Given the description of an element on the screen output the (x, y) to click on. 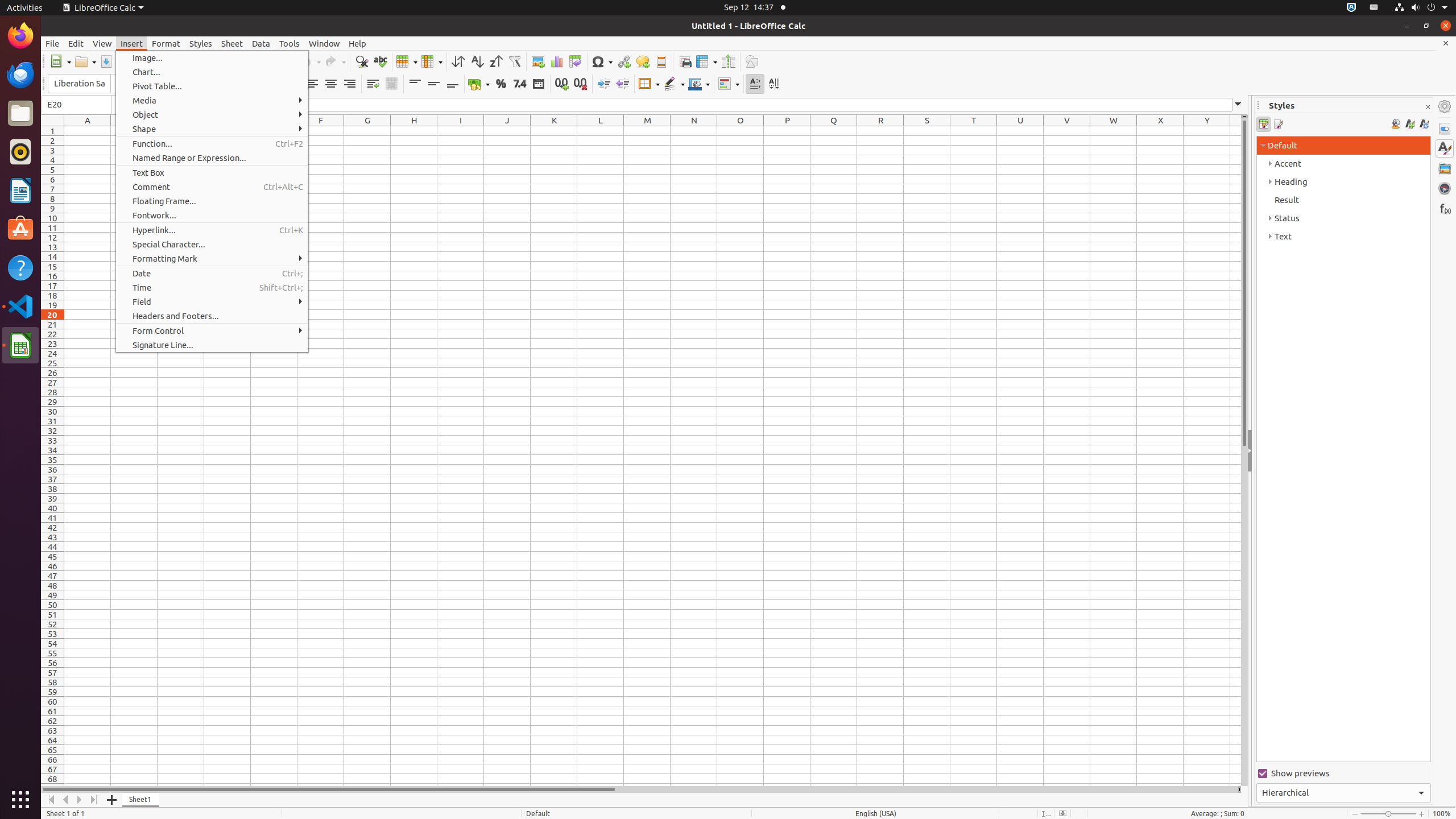
Insert Element type: menu (131, 43)
S1 Element type: table-cell (926, 130)
Q1 Element type: table-cell (833, 130)
Properties Element type: radio-button (1444, 128)
Comment Element type: push-button (642, 61)
